Given the description of an element on the screen output the (x, y) to click on. 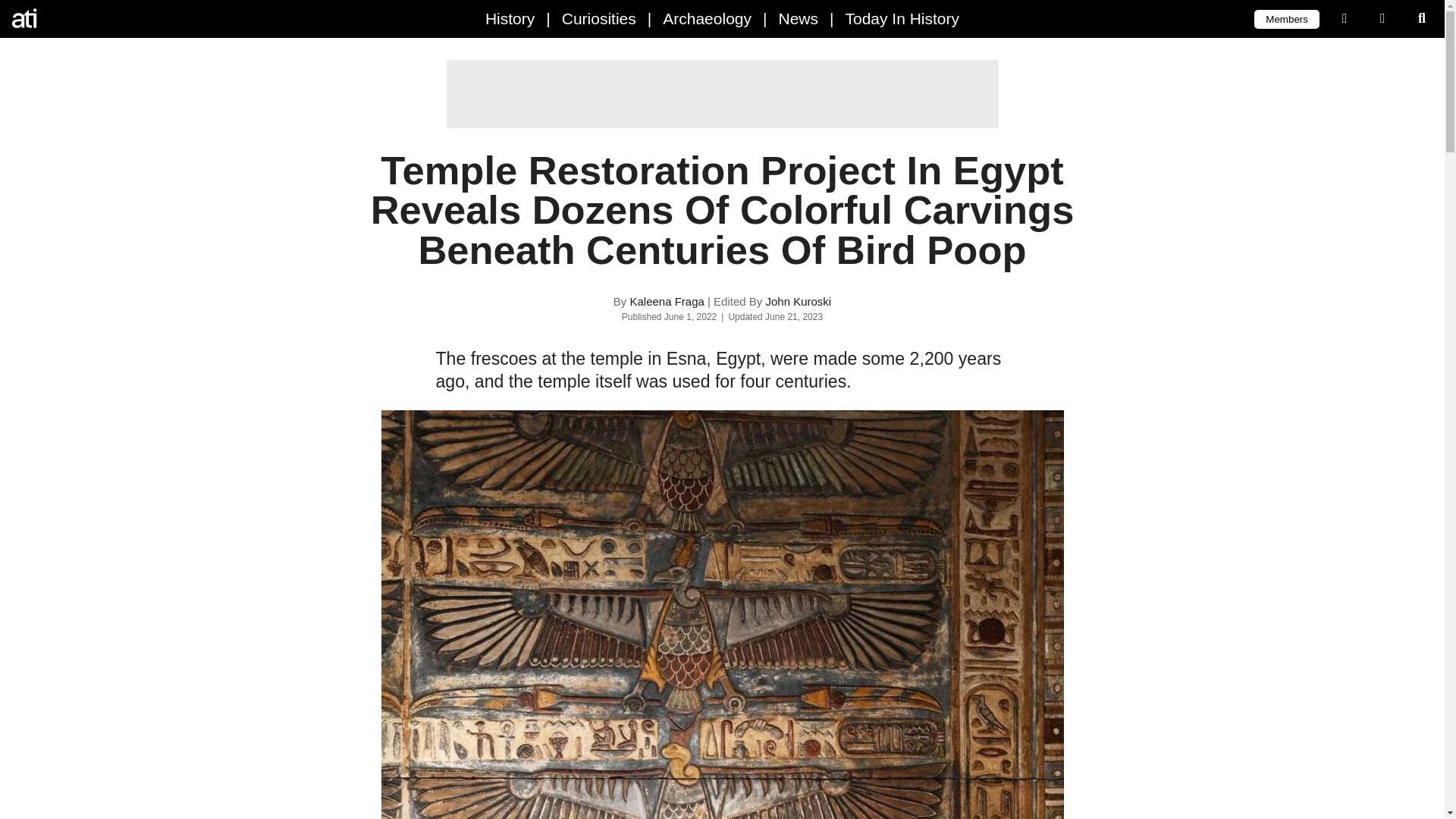
All That's Interesting (75, 18)
John Kuroski (798, 300)
Curiosities (598, 18)
News (798, 18)
History (510, 18)
Members (1286, 18)
Archaeology (706, 18)
Kaleena Fraga (665, 300)
Today In History (901, 18)
